Given the description of an element on the screen output the (x, y) to click on. 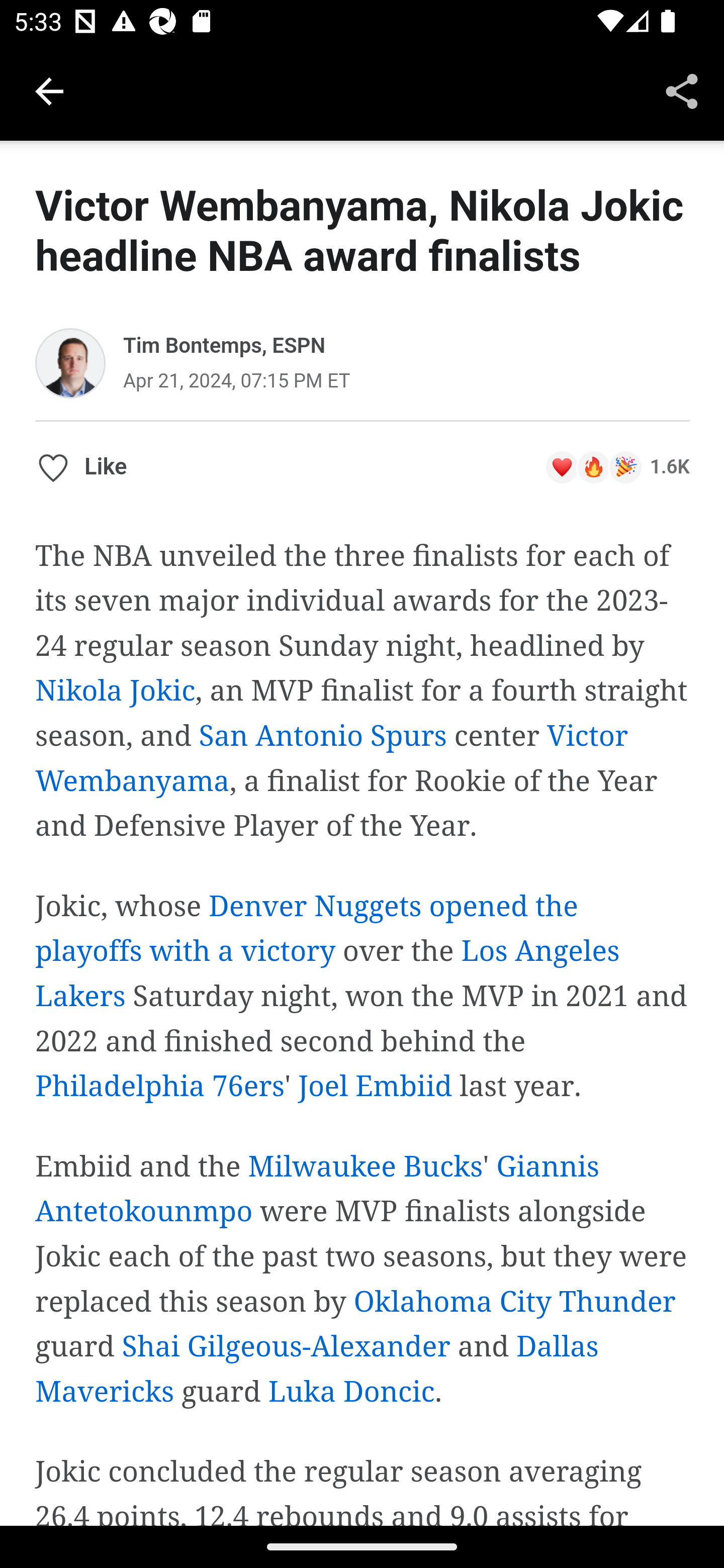
Navigate up (49, 91)
Share (681, 90)
